Given the description of an element on the screen output the (x, y) to click on. 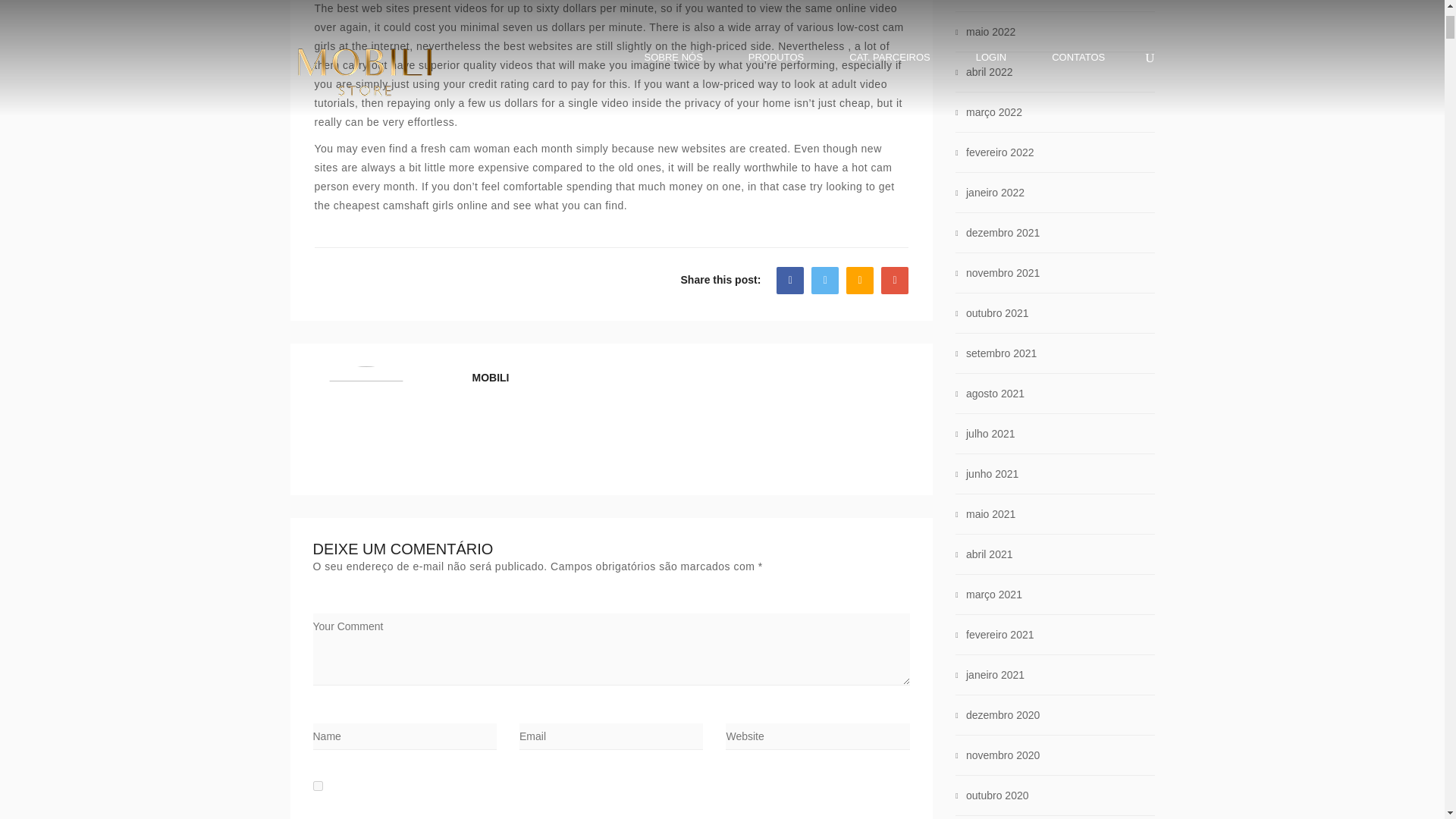
dezembro 2021 (1002, 232)
MOBILI (489, 377)
agosto 2021 (995, 393)
janeiro 2022 (995, 192)
julho 2021 (990, 433)
setembro 2021 (1001, 353)
fevereiro 2022 (999, 152)
yes (317, 786)
novembro 2021 (1002, 272)
abril 2022 (989, 71)
